Given the description of an element on the screen output the (x, y) to click on. 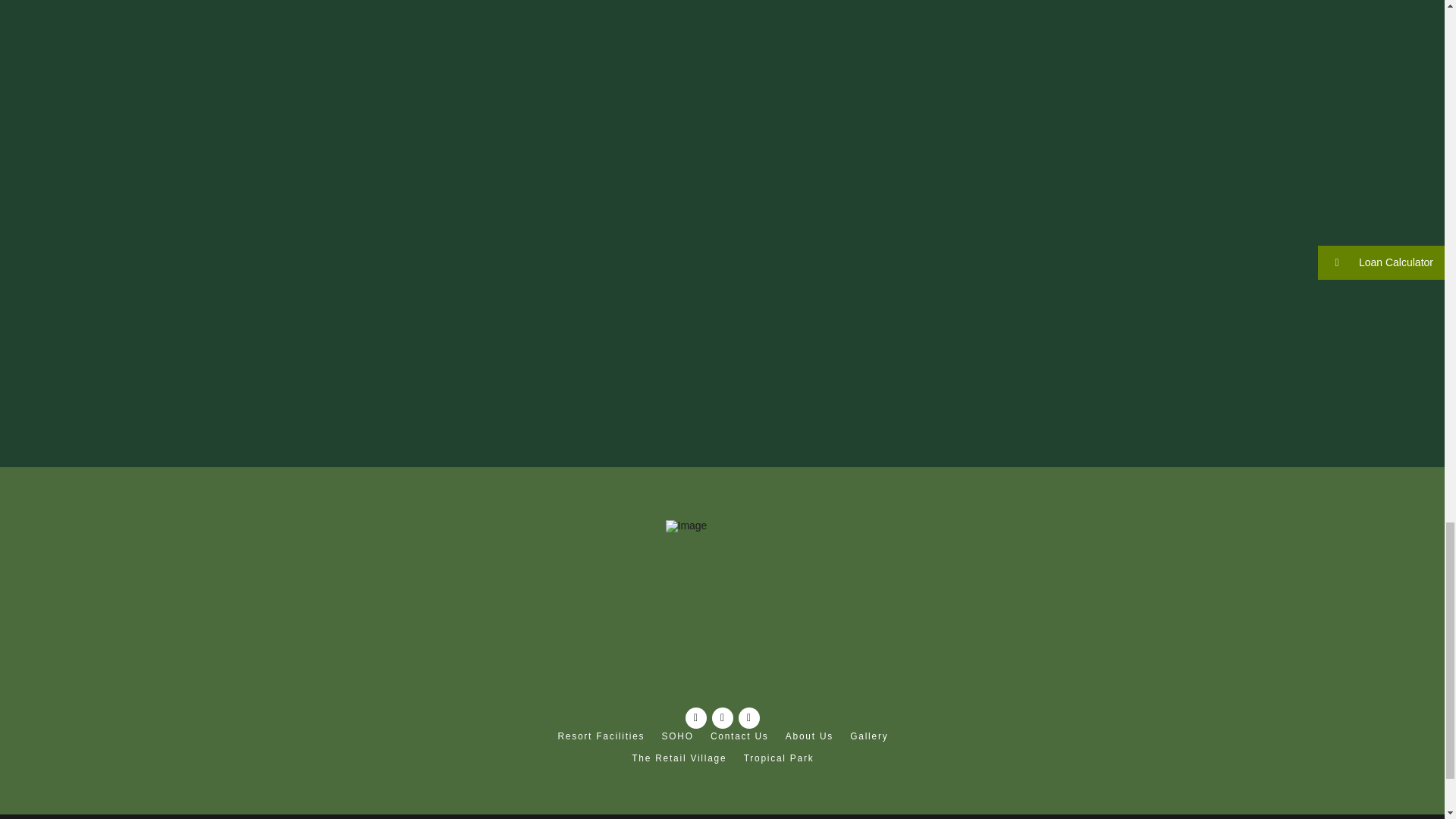
The Retail Village (678, 756)
Contact Us (738, 737)
SOHO (676, 737)
Gallery (868, 737)
About Us (808, 737)
Tropical Park (778, 756)
Resort Facilities (600, 737)
